Given the description of an element on the screen output the (x, y) to click on. 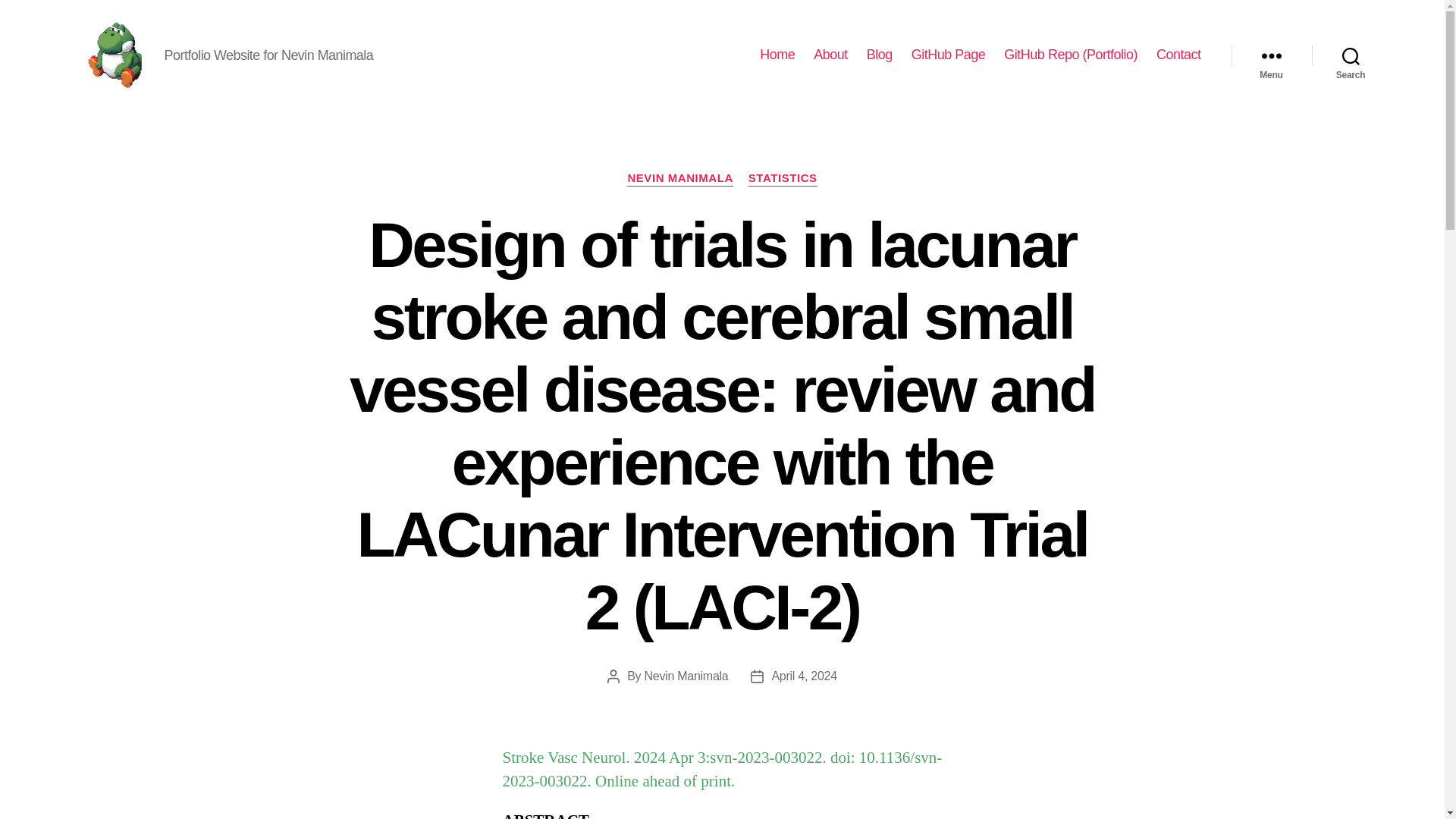
Contact (1178, 54)
Search (1350, 55)
GitHub Page (948, 54)
Menu (1271, 55)
Blog (879, 54)
About (830, 54)
Home (777, 54)
Nevin Manimala (687, 675)
STATISTICS (782, 178)
April 4, 2024 (803, 675)
NEVIN MANIMALA (679, 178)
